Given the description of an element on the screen output the (x, y) to click on. 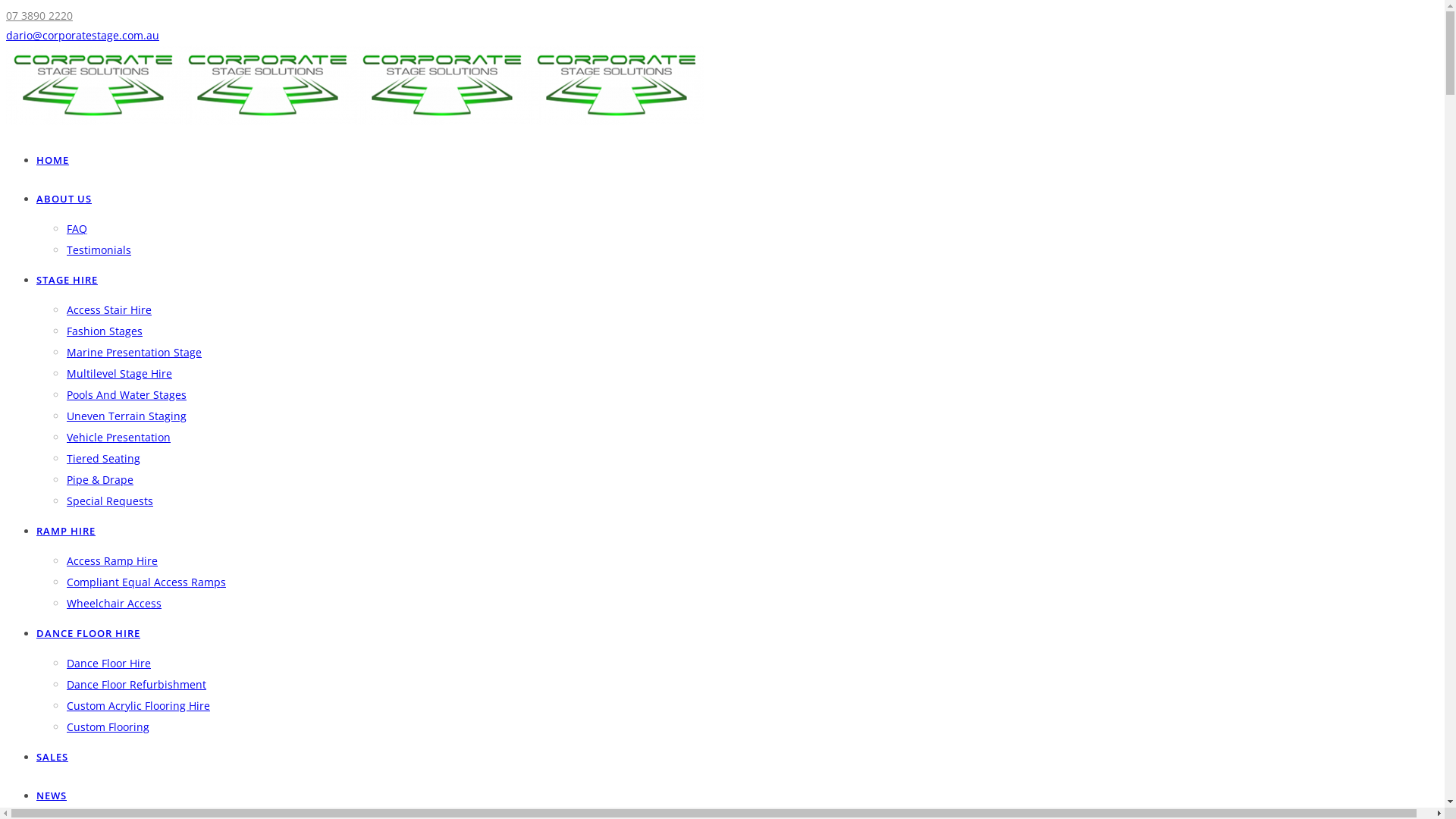
Access Ramp Hire Element type: text (111, 560)
Compliant Equal Access Ramps Element type: text (145, 581)
Fashion Stages Element type: text (104, 330)
RAMP HIRE Element type: text (65, 530)
Testimonials Element type: text (98, 249)
ABOUT US Element type: text (63, 198)
SALES Element type: text (52, 756)
FAQ Element type: text (76, 228)
Custom Flooring Element type: text (107, 726)
Special Requests Element type: text (109, 500)
Marine Presentation Stage Element type: text (133, 352)
Access Stair Hire Element type: text (108, 309)
Custom Acrylic Flooring Hire Element type: text (138, 705)
STAGE HIRE Element type: text (66, 279)
NEWS Element type: text (51, 795)
DANCE FLOOR HIRE Element type: text (88, 633)
Dance Floor Hire Element type: text (108, 662)
Pools And Water Stages Element type: text (126, 394)
dario@corporatestage.com.au Element type: text (82, 35)
Tiered Seating Element type: text (103, 458)
Dance Floor Refurbishment Element type: text (136, 684)
Multilevel Stage Hire Element type: text (119, 373)
HOME Element type: text (52, 159)
07 3890 2220 Element type: text (39, 15)
Uneven Terrain Staging Element type: text (126, 415)
Vehicle Presentation Element type: text (118, 436)
Wheelchair Access Element type: text (113, 603)
Pipe & Drape Element type: text (99, 479)
